Given the description of an element on the screen output the (x, y) to click on. 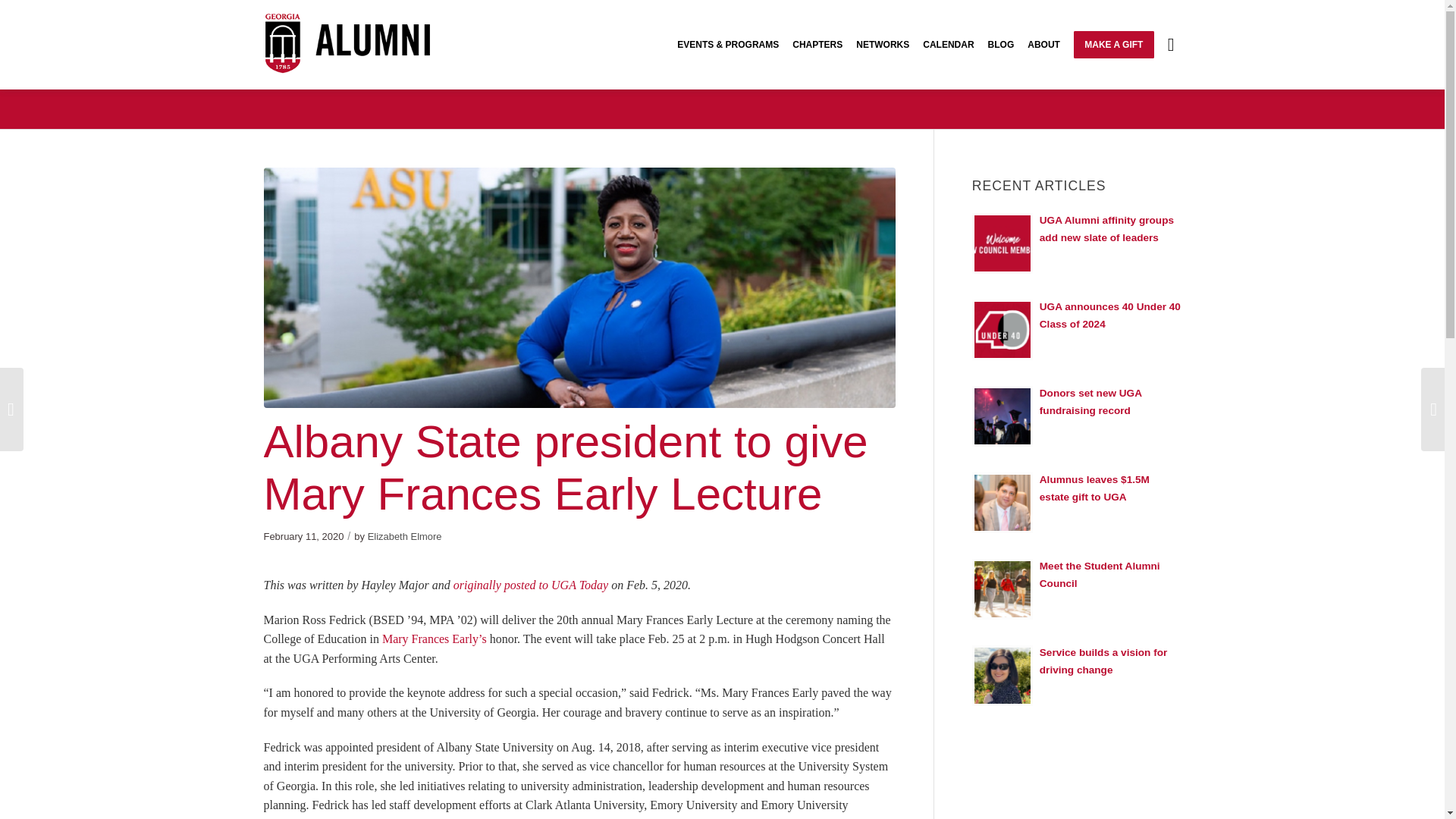
 MAKE A GIFT  (1113, 44)
uga-alumni-nba-1 (369, 42)
Posts by Elizabeth Elmore (405, 536)
Make a Gift (1113, 44)
uga-alumni-nba-1 (369, 48)
